Given the description of an element on the screen output the (x, y) to click on. 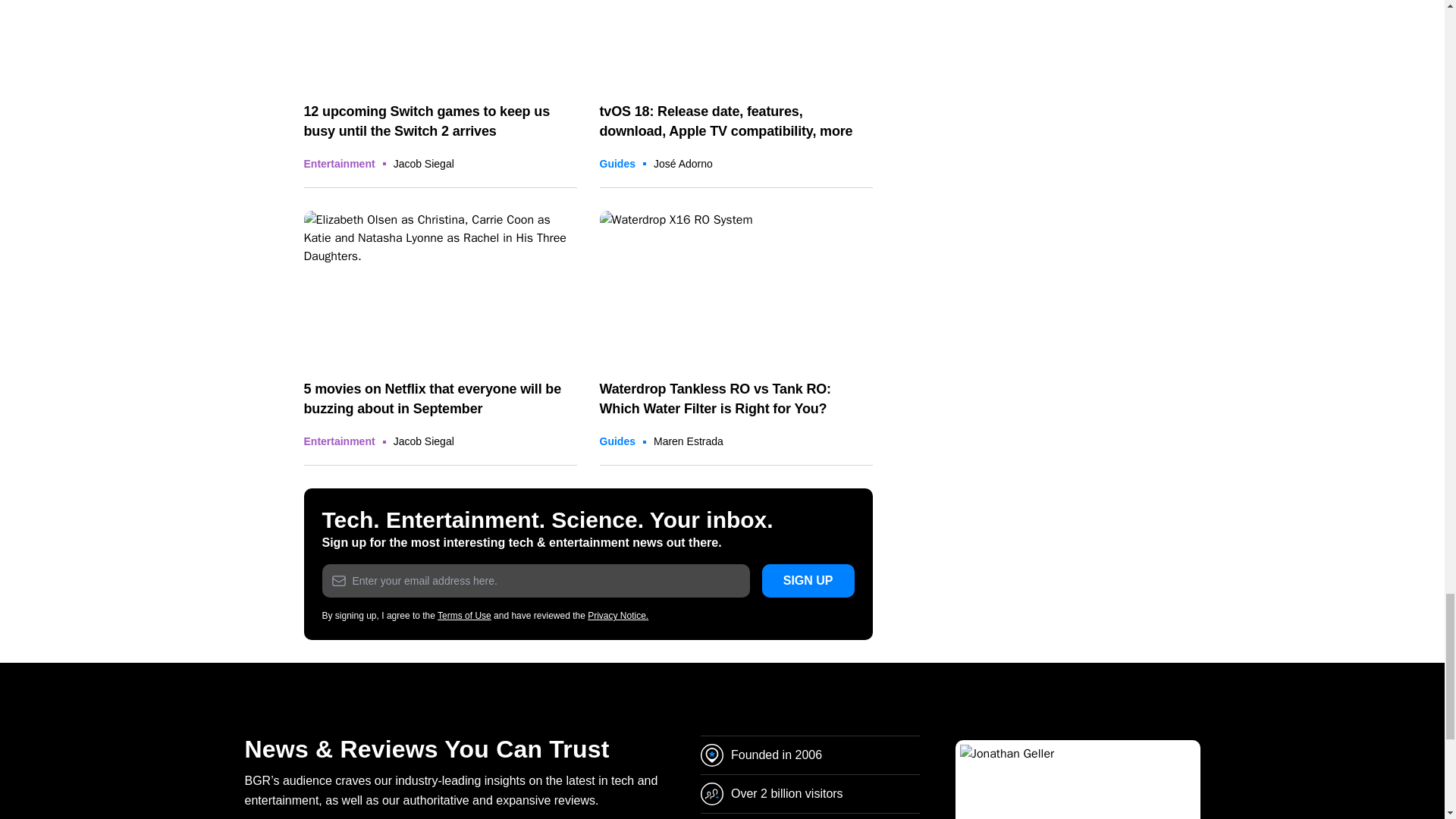
Posts by Jacob Siegal (423, 163)
Waterdrop Tankless RO Systems (735, 287)
Netflix movies (439, 287)
Switch games (439, 43)
Posts by Maren Estrada (688, 440)
Posts by Jacob Siegal (423, 440)
